Given the description of an element on the screen output the (x, y) to click on. 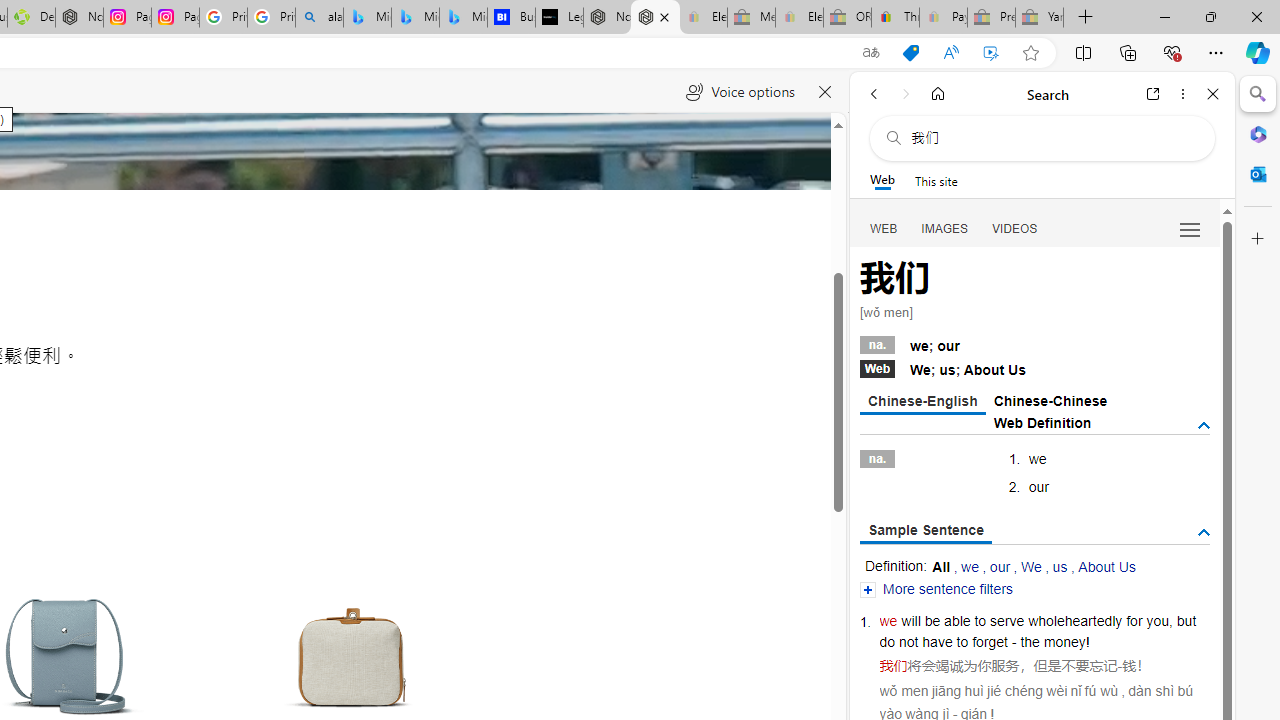
Web Definition (1042, 422)
